Given the description of an element on the screen output the (x, y) to click on. 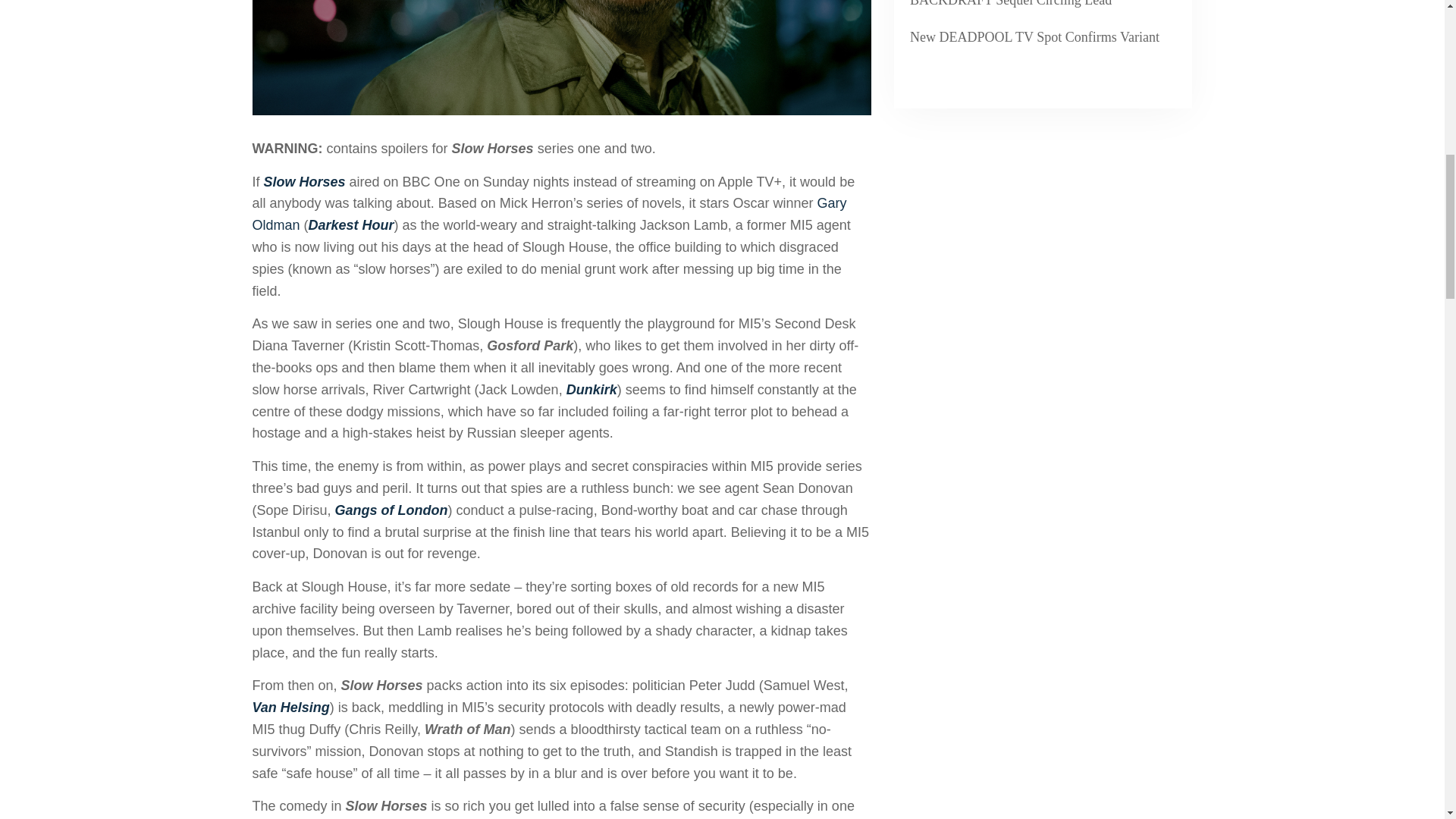
Darkest Hour (351, 224)
Gary Oldman (548, 213)
Gangs of London (391, 509)
Dunkirk (591, 389)
Slow Horses (304, 181)
Van Helsing (290, 707)
